Given the description of an element on the screen output the (x, y) to click on. 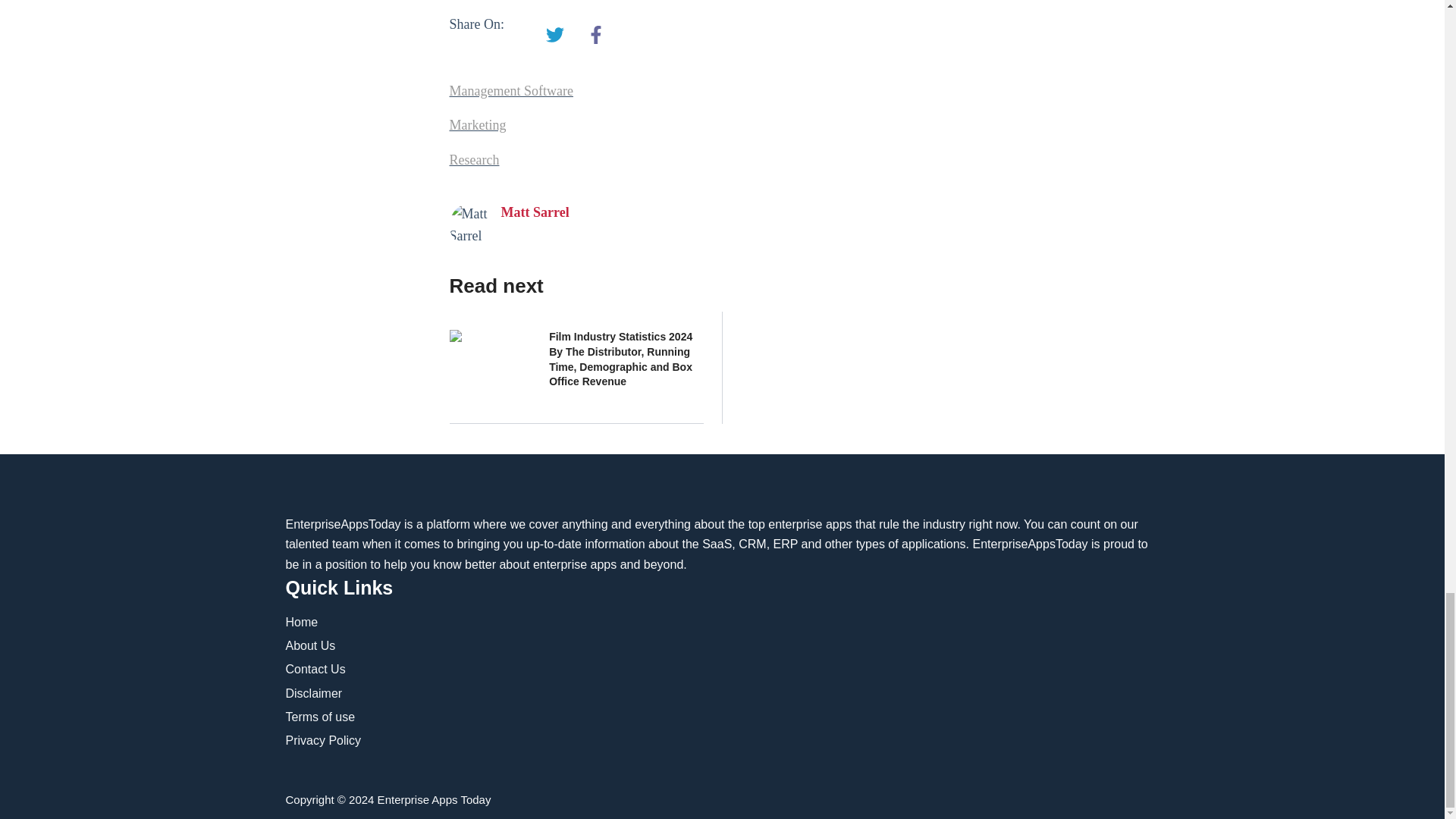
7 Apps for Simplifying Project Management (595, 34)
7 Apps for Simplifying Project Management (555, 34)
